Given the description of an element on the screen output the (x, y) to click on. 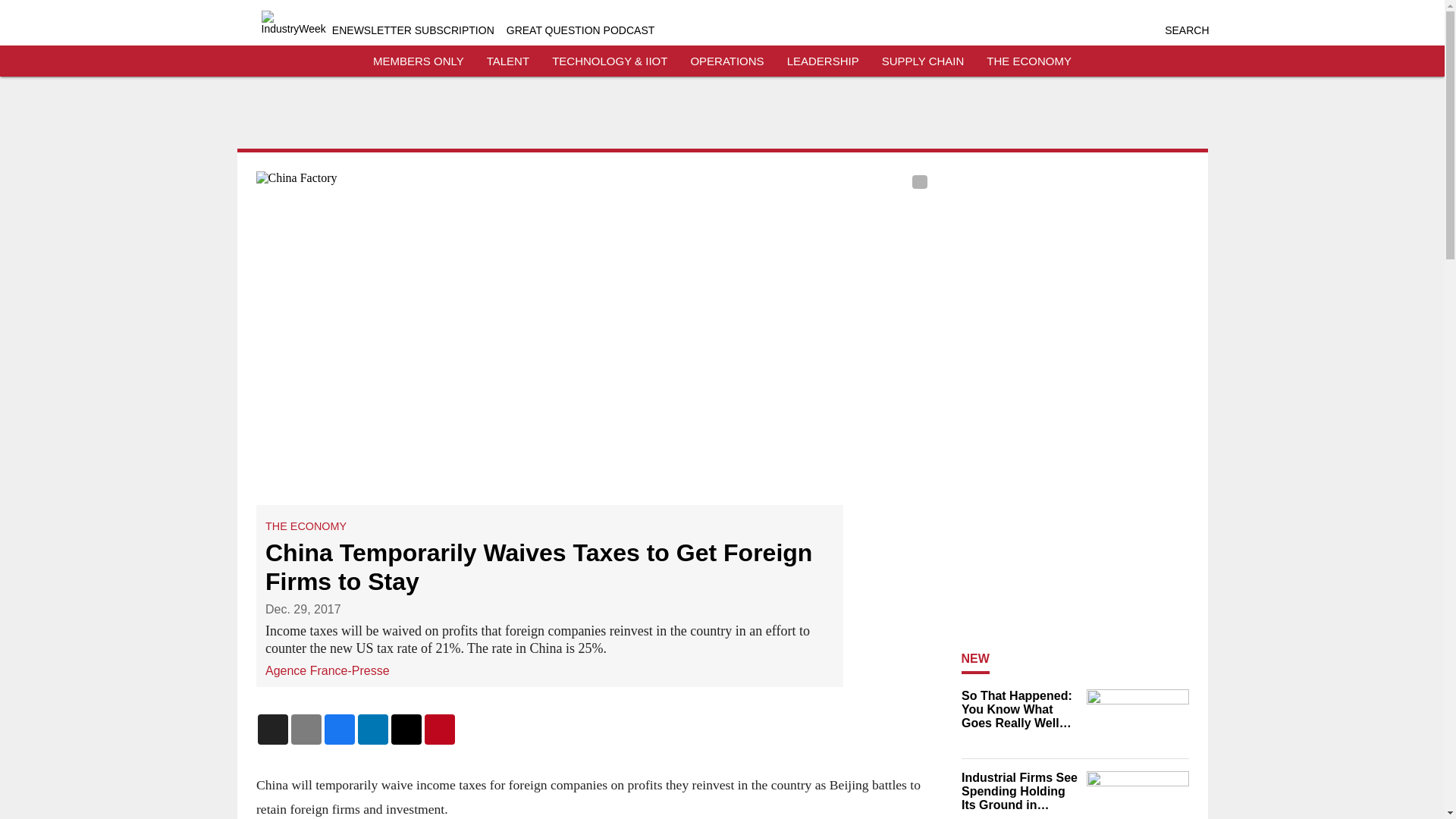
THE ECONOMY (305, 526)
GREAT QUESTION PODCAST (580, 30)
OPERATIONS (726, 60)
MEMBERS ONLY (418, 60)
TALENT (507, 60)
SEARCH (1186, 30)
ENEWSLETTER SUBSCRIPTION (413, 30)
LEADERSHIP (823, 60)
